Given the description of an element on the screen output the (x, y) to click on. 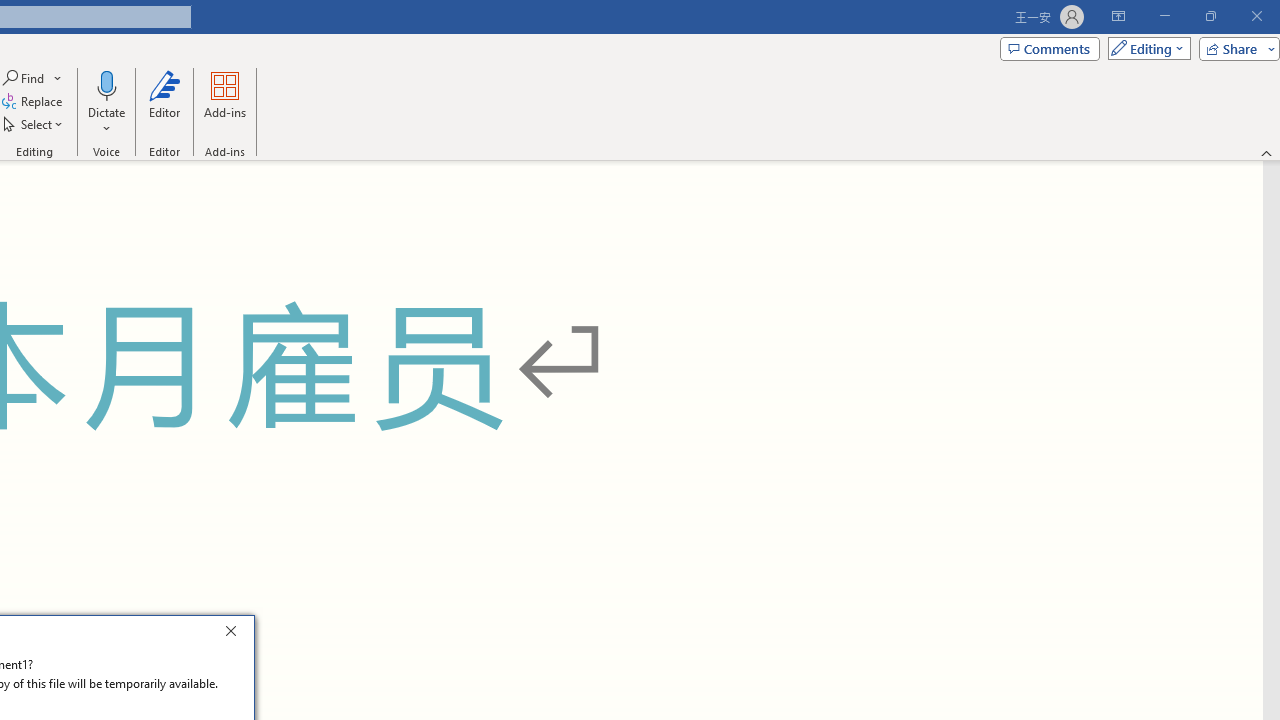
Ribbon Display Options (1118, 16)
Editing (1144, 47)
Editor (164, 102)
Collapse the Ribbon (1267, 152)
